Given the description of an element on the screen output the (x, y) to click on. 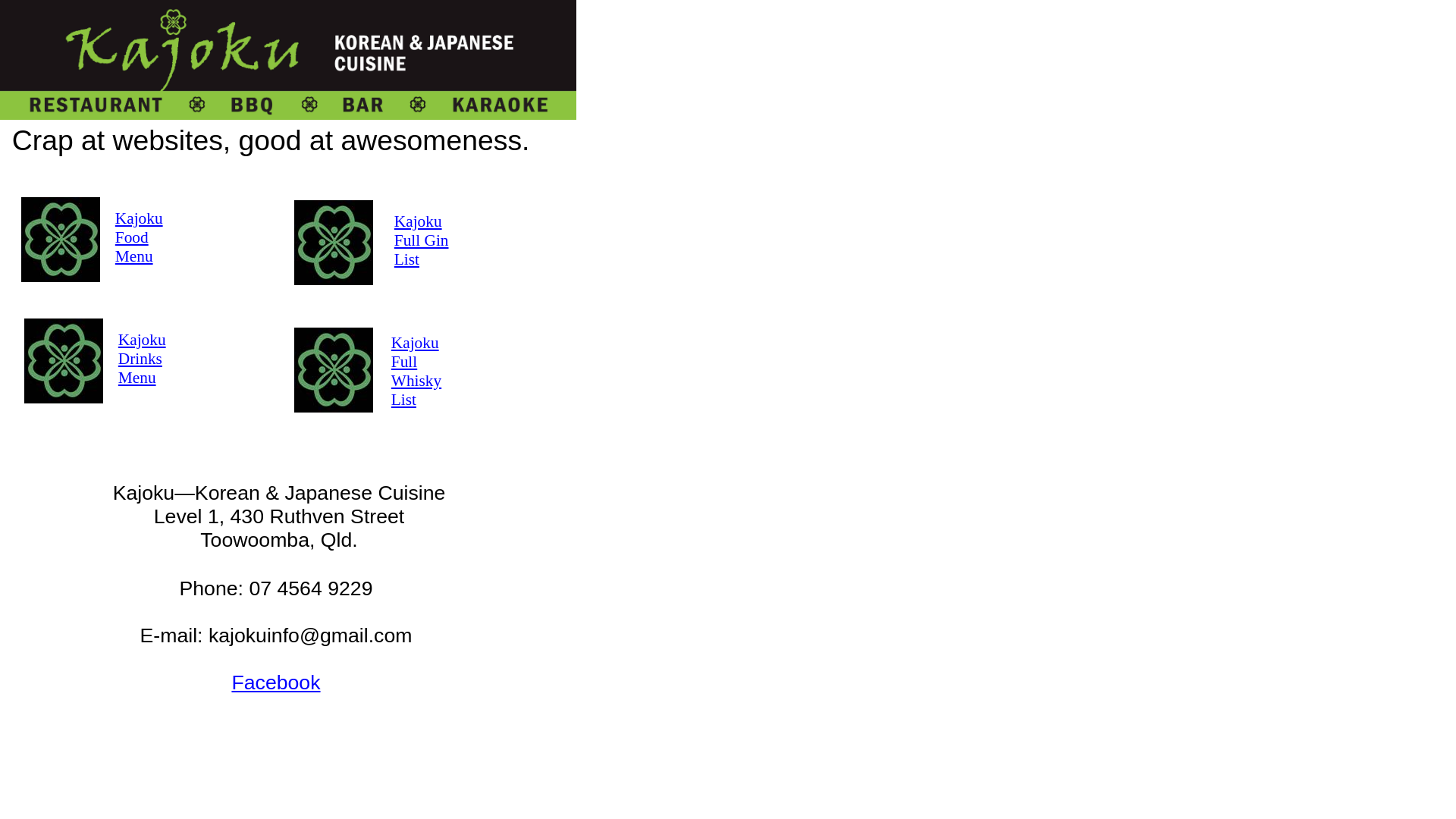
Kajoku Full Gin List Element type: text (421, 240)
Kajoku Food Menu Element type: text (139, 237)
Kajoku Drinks Menu Element type: text (142, 358)
Kajoku Full Whisky List Element type: text (416, 370)
Facebook Element type: text (275, 682)
